Given the description of an element on the screen output the (x, y) to click on. 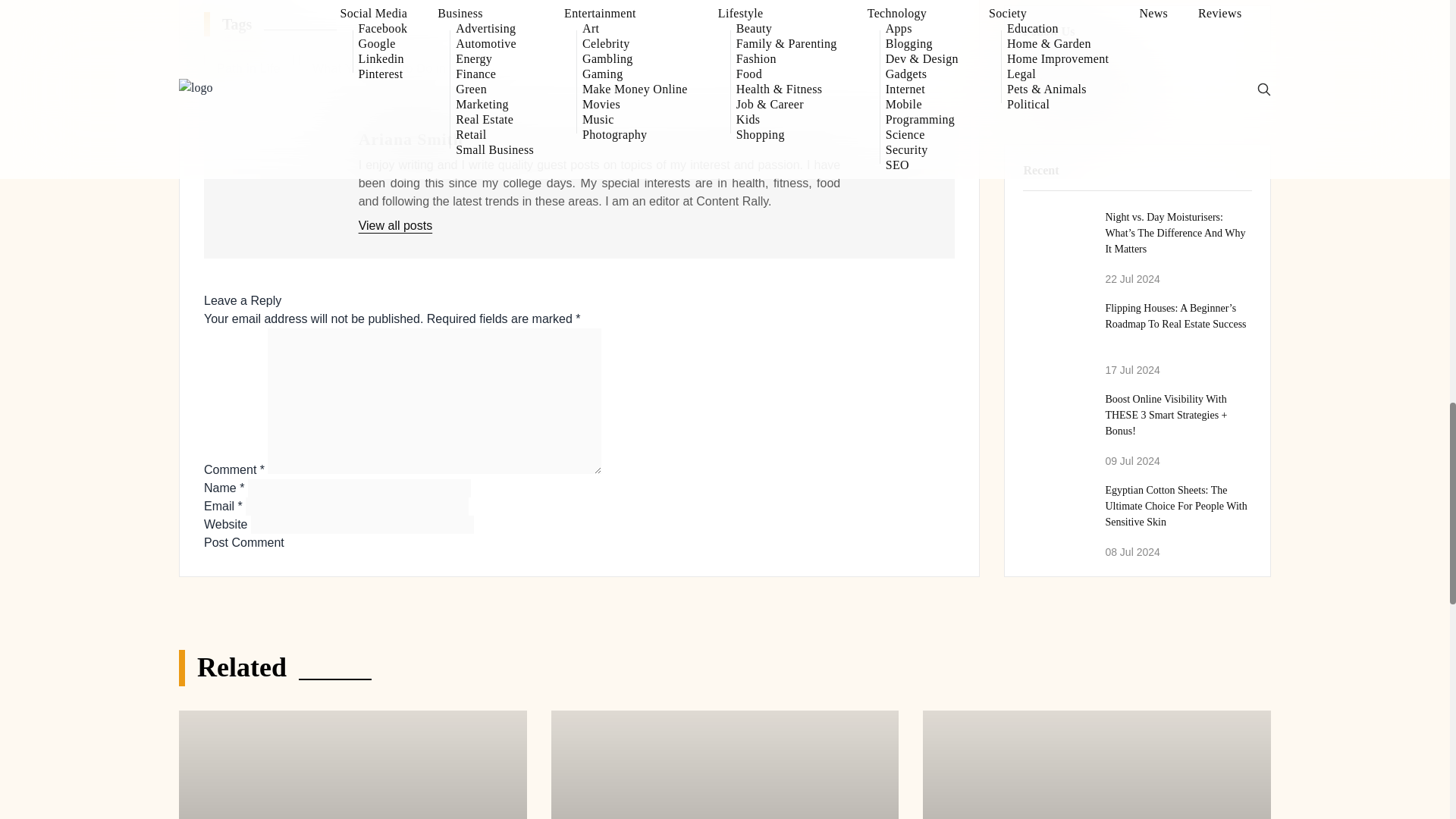
Post Comment (243, 542)
